Given the description of an element on the screen output the (x, y) to click on. 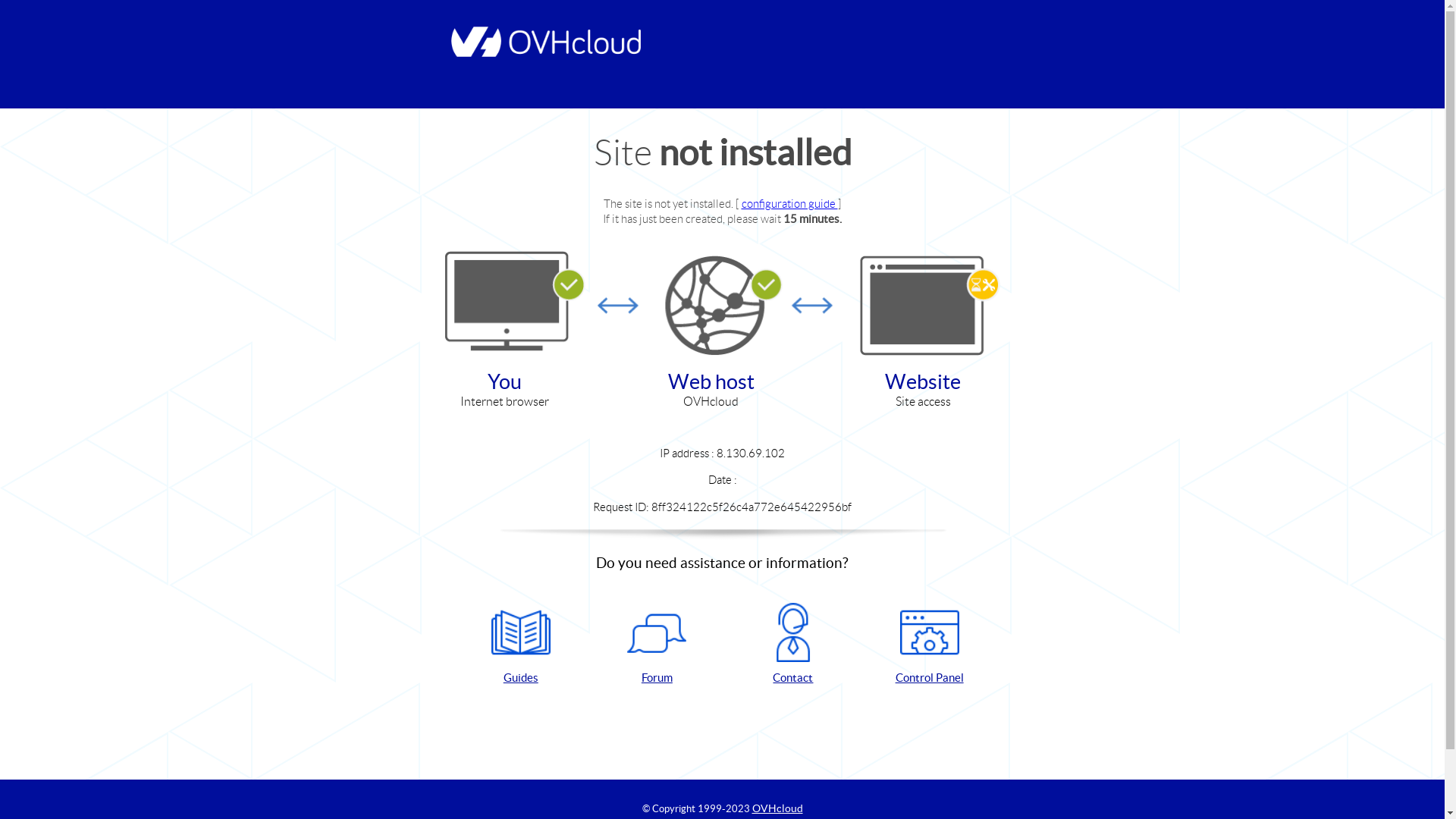
Control Panel Element type: text (929, 644)
Guides Element type: text (520, 644)
Forum Element type: text (656, 644)
OVHcloud Element type: text (777, 808)
configuration guide Element type: text (789, 203)
Contact Element type: text (792, 644)
